Given the description of an element on the screen output the (x, y) to click on. 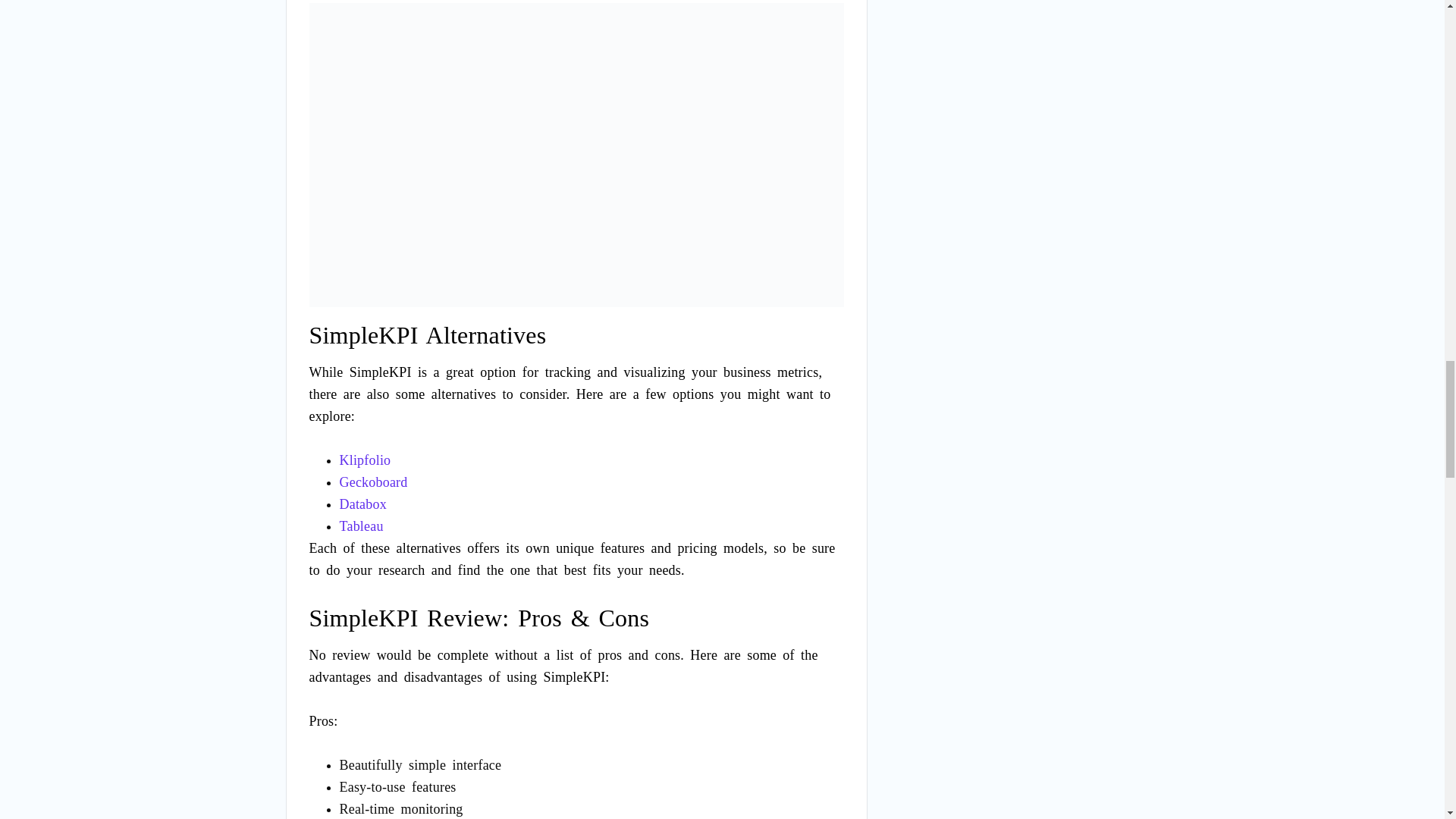
Klipfolio (365, 459)
Databox (363, 503)
Tableau (361, 525)
Geckoboard (373, 482)
